Given the description of an element on the screen output the (x, y) to click on. 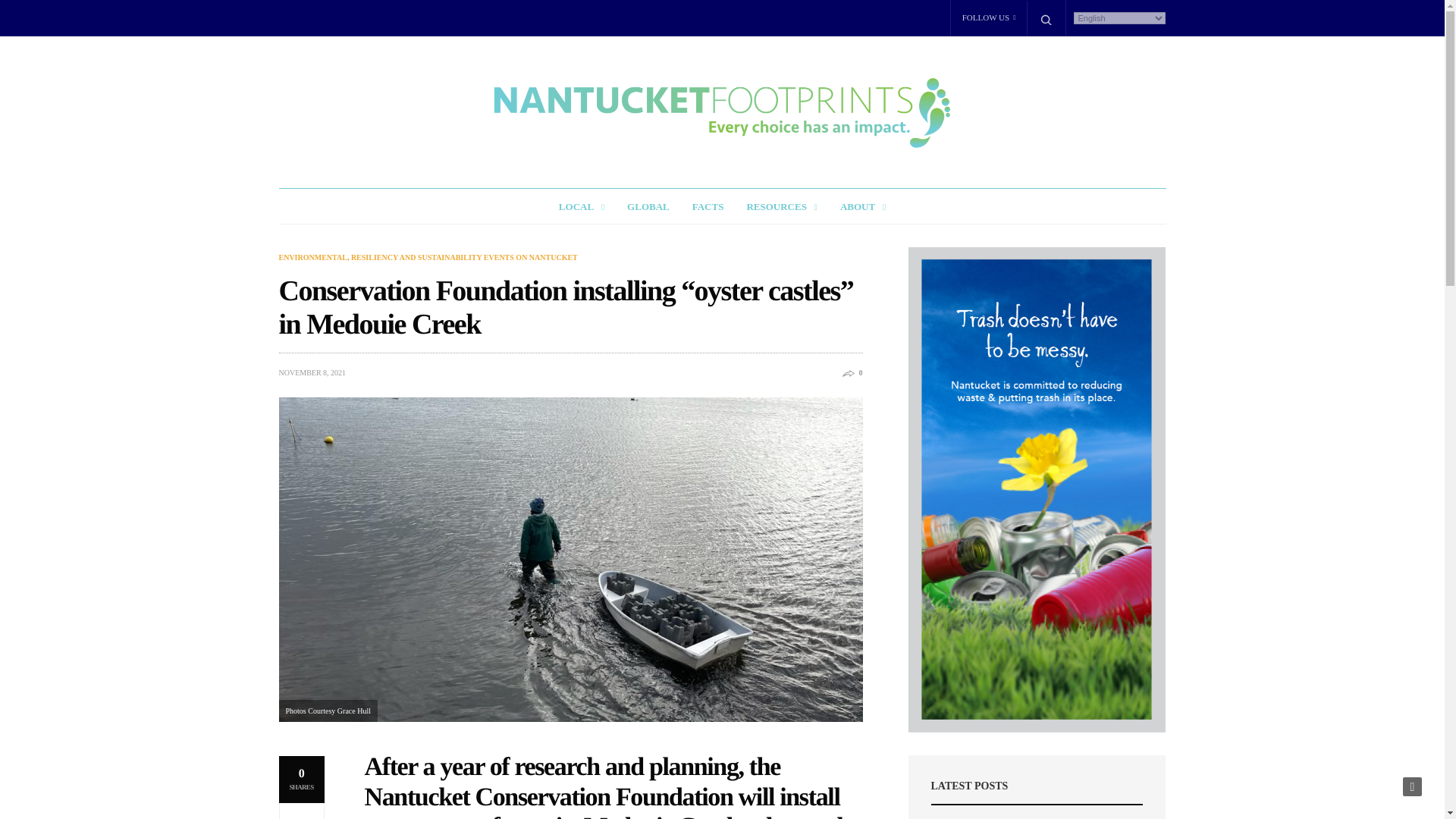
RESOURCES (780, 206)
Nantucket Environmental News and Resources (581, 206)
FOLLOW US (988, 18)
LOCAL (581, 206)
Search (16, 16)
GLOBAL (648, 206)
FACTS (708, 206)
